Given the description of an element on the screen output the (x, y) to click on. 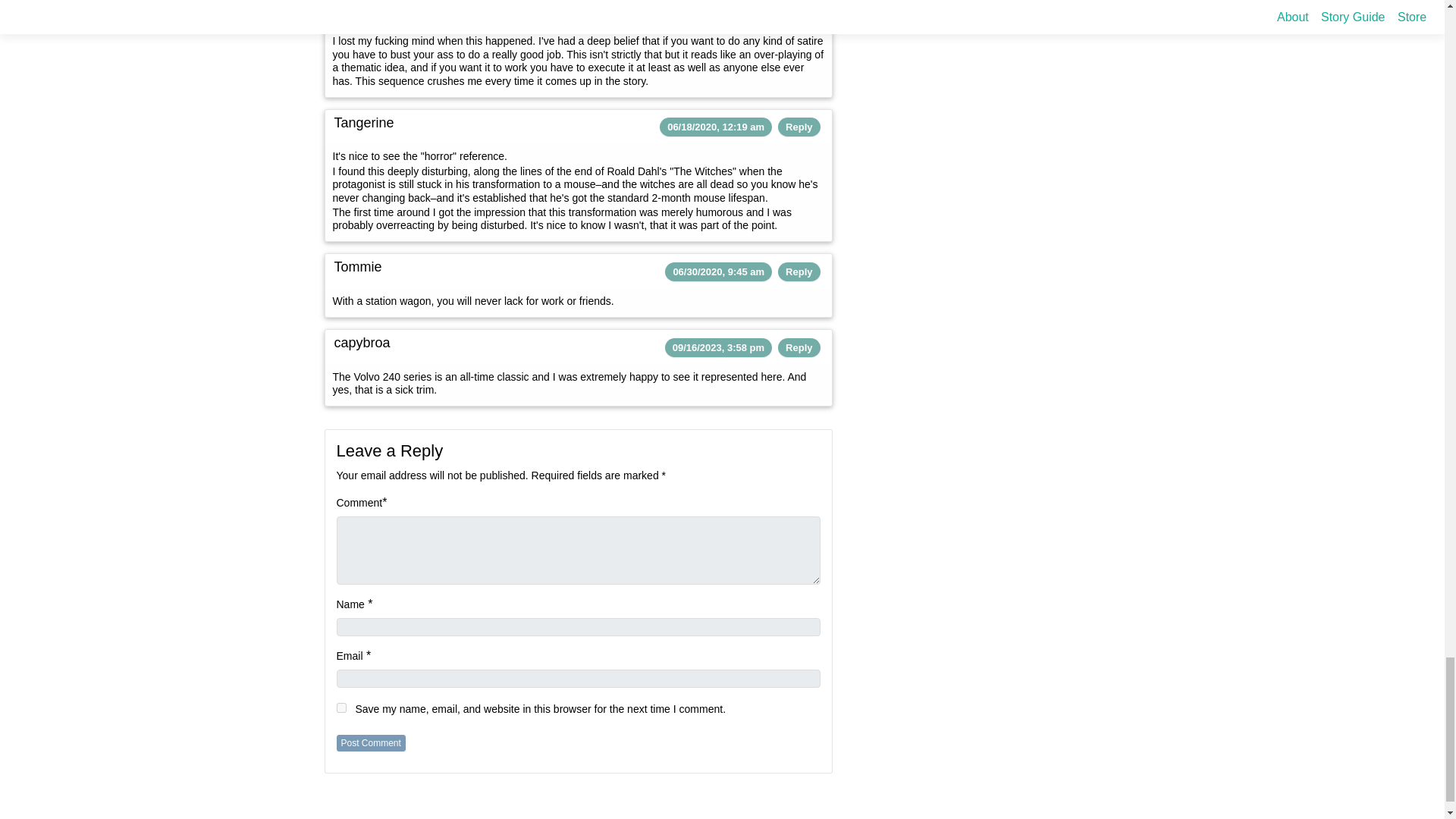
Reply (799, 11)
Reply (799, 126)
Matt Bixler (365, 7)
yes (341, 707)
Post Comment (371, 742)
